Given the description of an element on the screen output the (x, y) to click on. 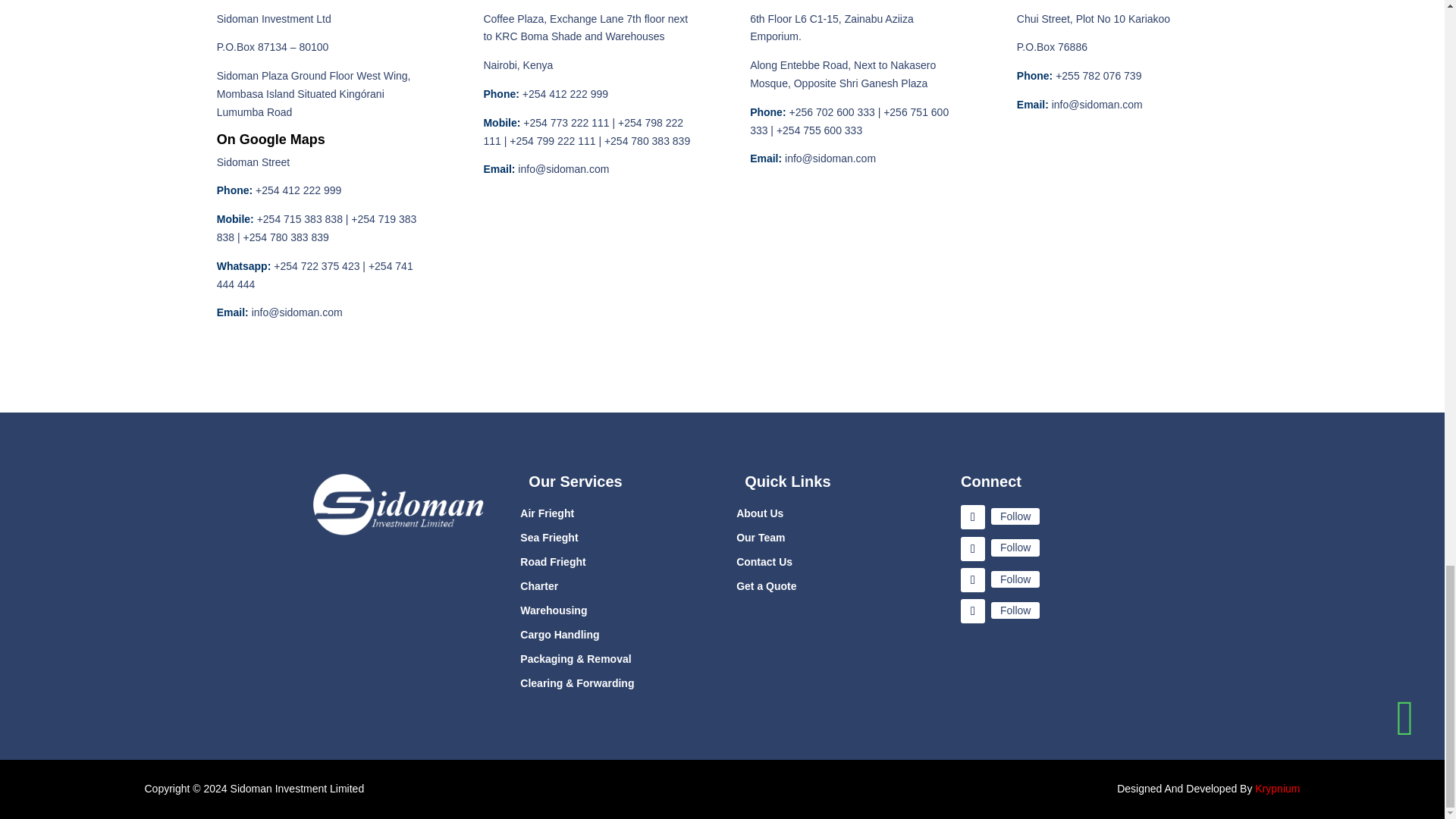
X (1015, 547)
Follow on LinkedIn (972, 610)
Follow on Facebook (972, 517)
Follow on Instagram (972, 580)
Instagram (1015, 579)
Facebook (1015, 515)
LinkedIn (1015, 610)
Follow on X (972, 549)
